Given the description of an element on the screen output the (x, y) to click on. 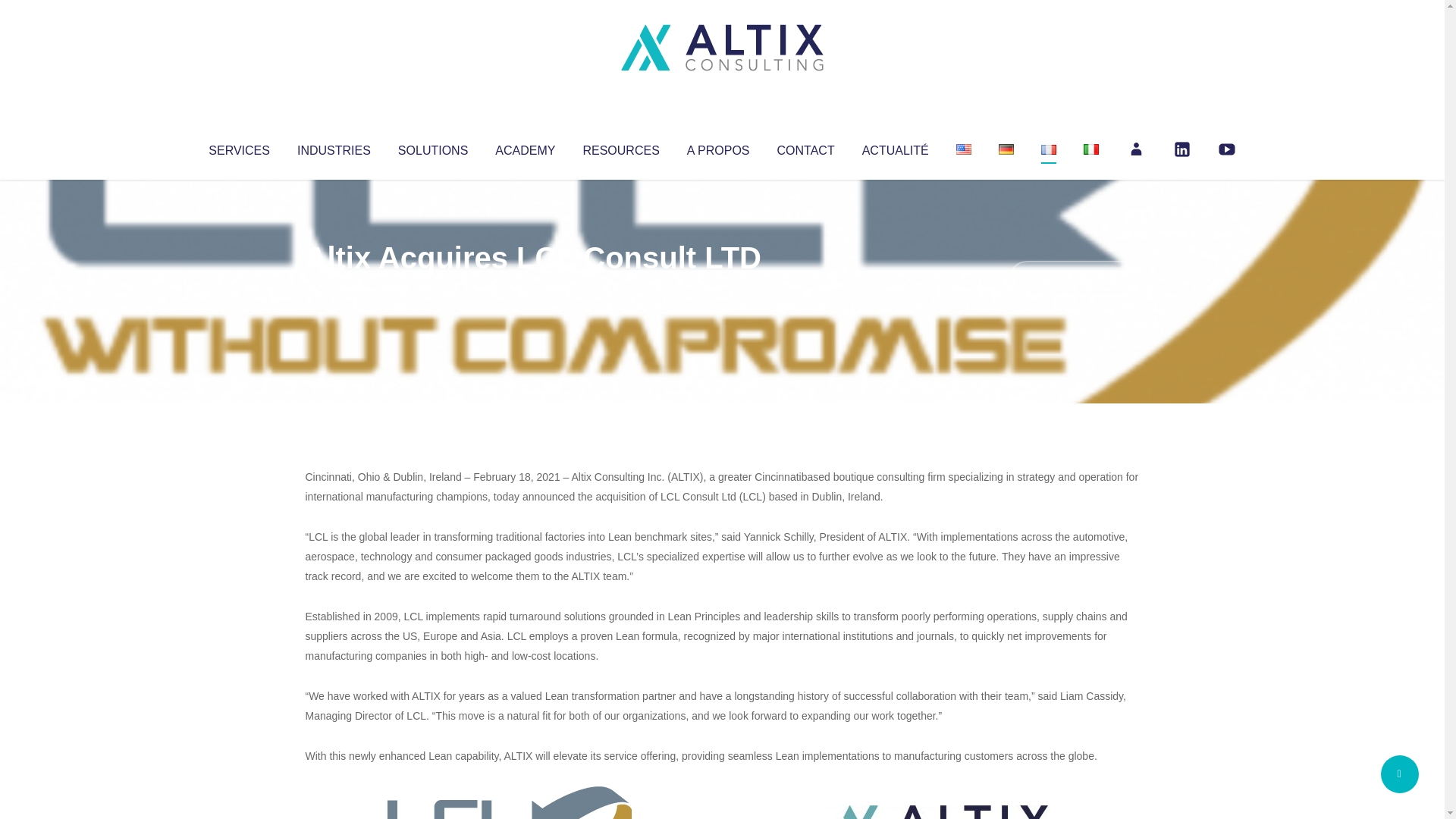
Altix (333, 287)
INDUSTRIES (334, 146)
SOLUTIONS (432, 146)
Articles par Altix (333, 287)
Uncategorized (530, 287)
ACADEMY (524, 146)
RESOURCES (620, 146)
No Comments (1073, 278)
SERVICES (238, 146)
A PROPOS (718, 146)
